Given the description of an element on the screen output the (x, y) to click on. 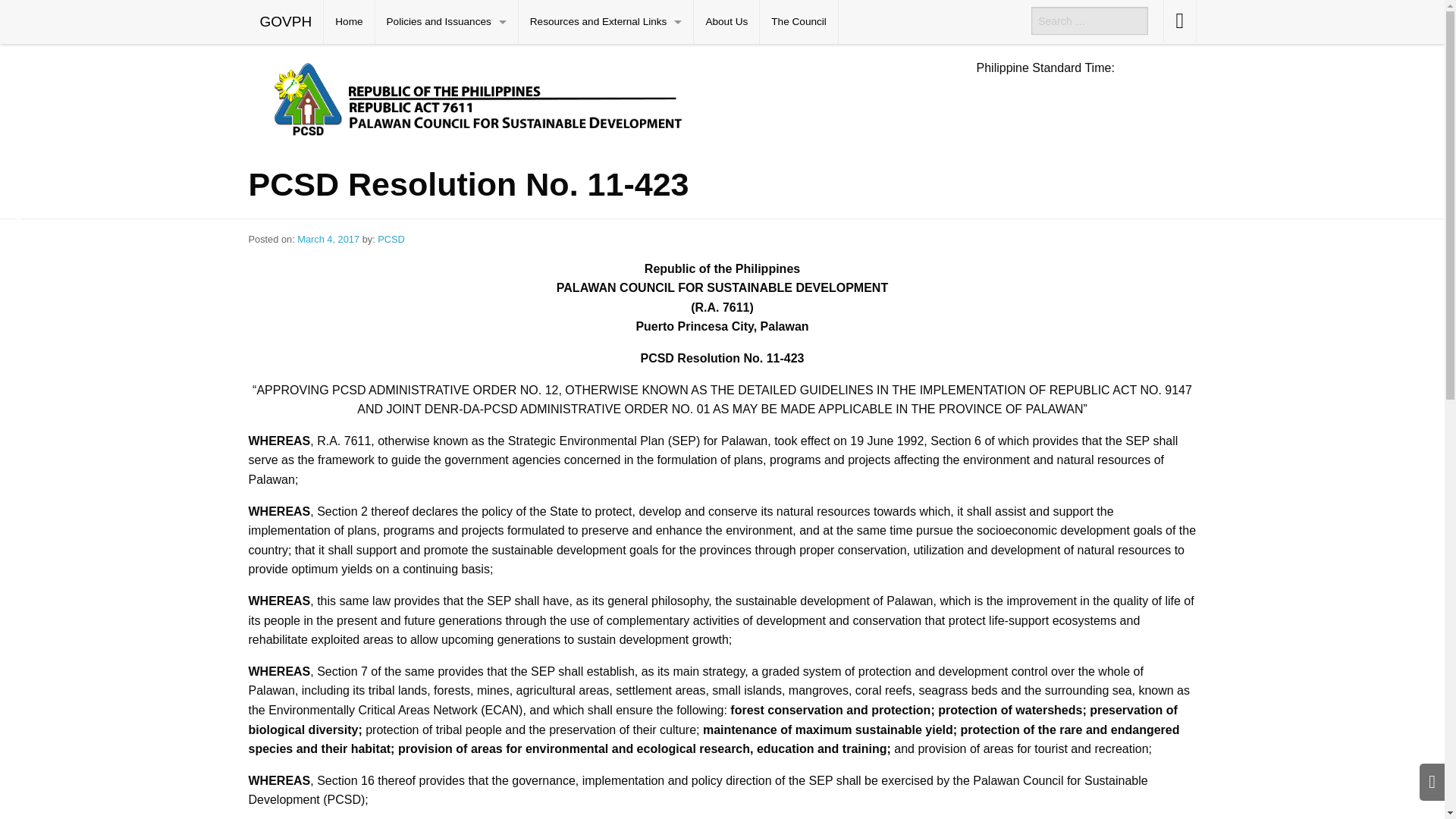
Policies and Issuances (446, 22)
GOVPH (285, 22)
View all posts by PCSD (390, 238)
Home (348, 22)
PCSD (600, 97)
Search for: (1089, 20)
8:27 am (329, 238)
